Given the description of an element on the screen output the (x, y) to click on. 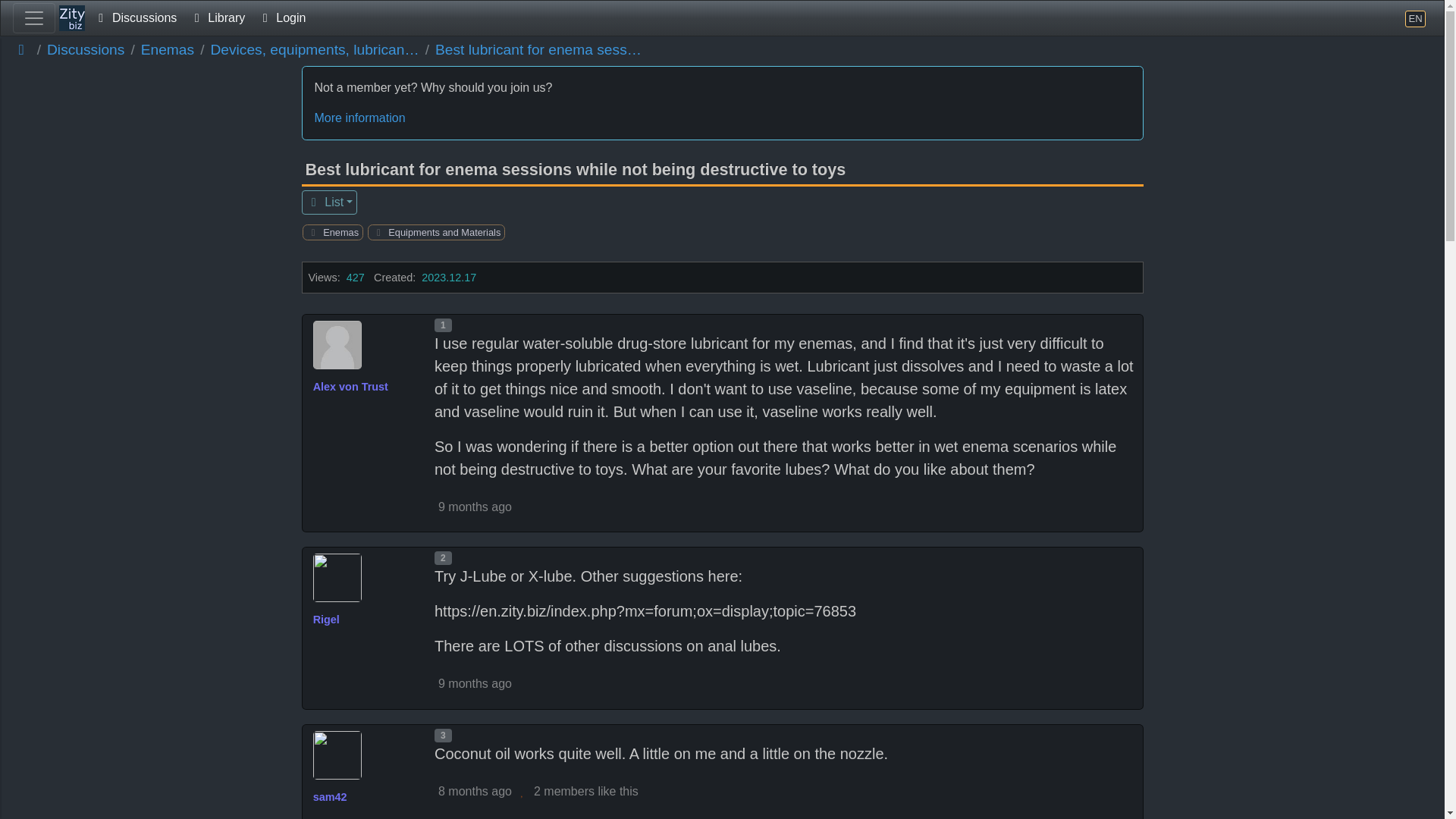
Discussions (135, 18)
More information (721, 117)
Library (216, 18)
Enemas (167, 50)
Language section (1415, 18)
List (329, 202)
EN (1415, 18)
Login (280, 18)
Enemas (338, 232)
Equipments and Materials (442, 232)
